Given the description of an element on the screen output the (x, y) to click on. 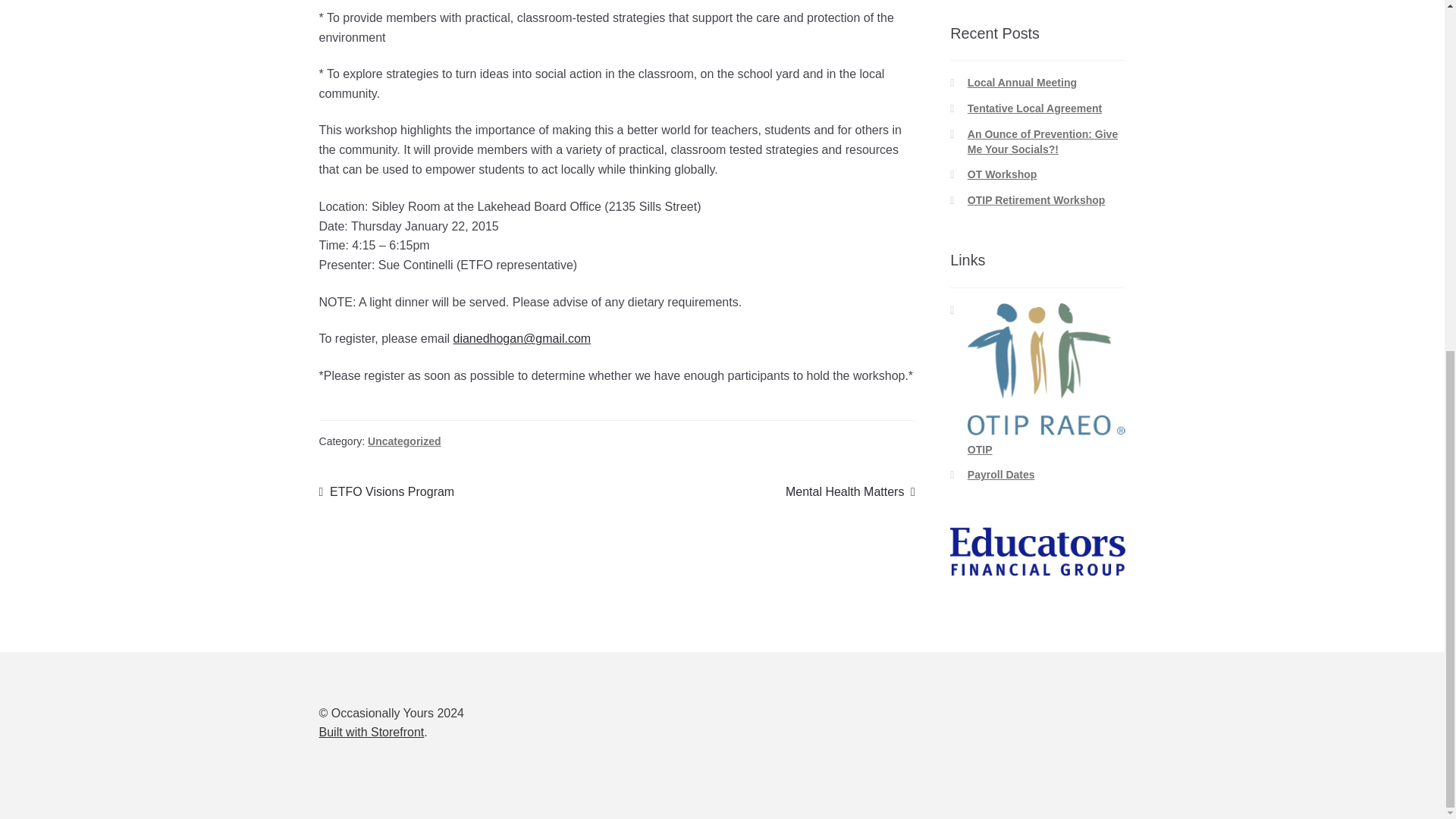
Lakehead District Payroll Input Deadlines (1001, 474)
Uncategorized (404, 440)
